Given the description of an element on the screen output the (x, y) to click on. 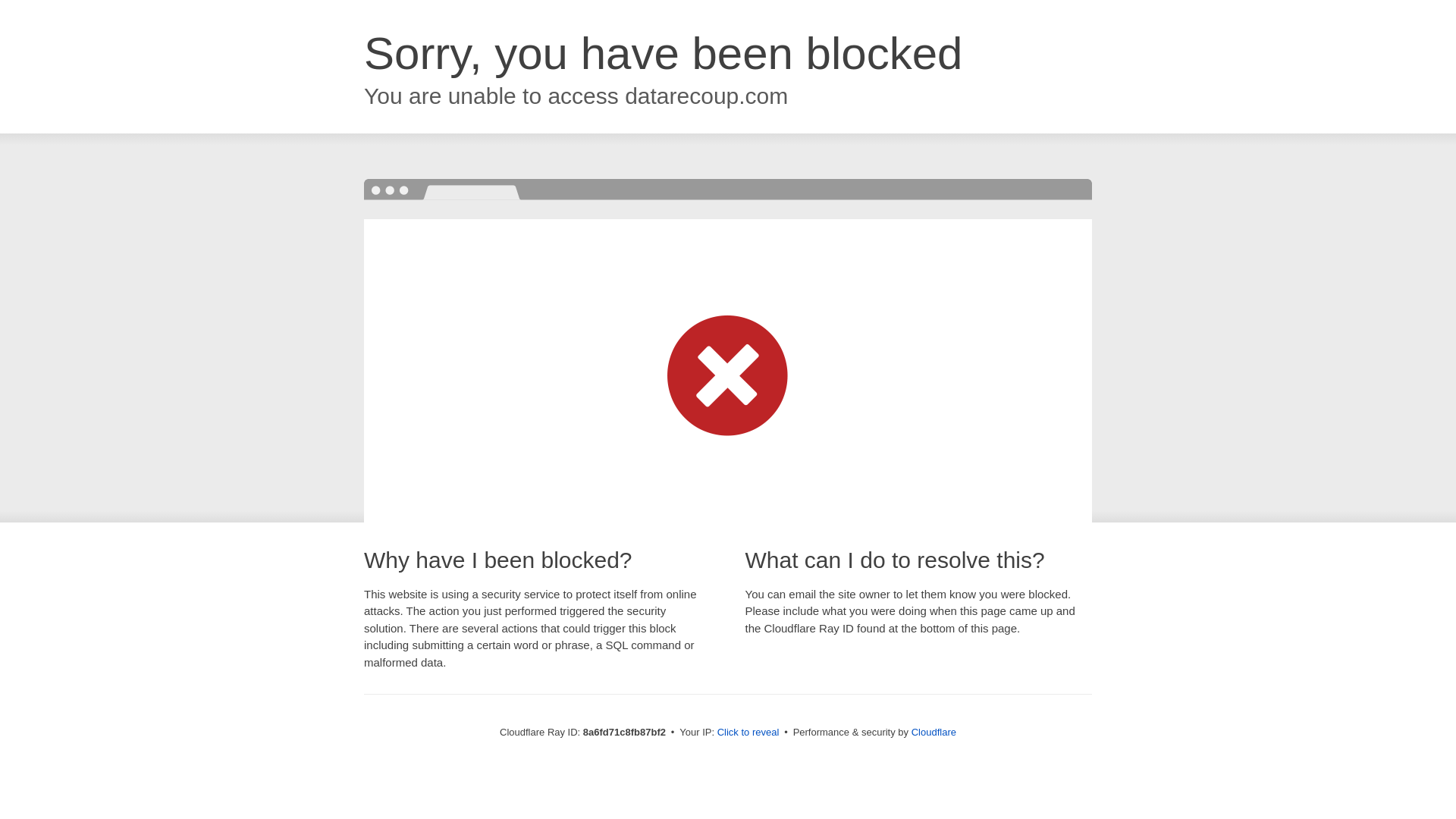
Click to reveal (747, 732)
Cloudflare (933, 731)
